Given the description of an element on the screen output the (x, y) to click on. 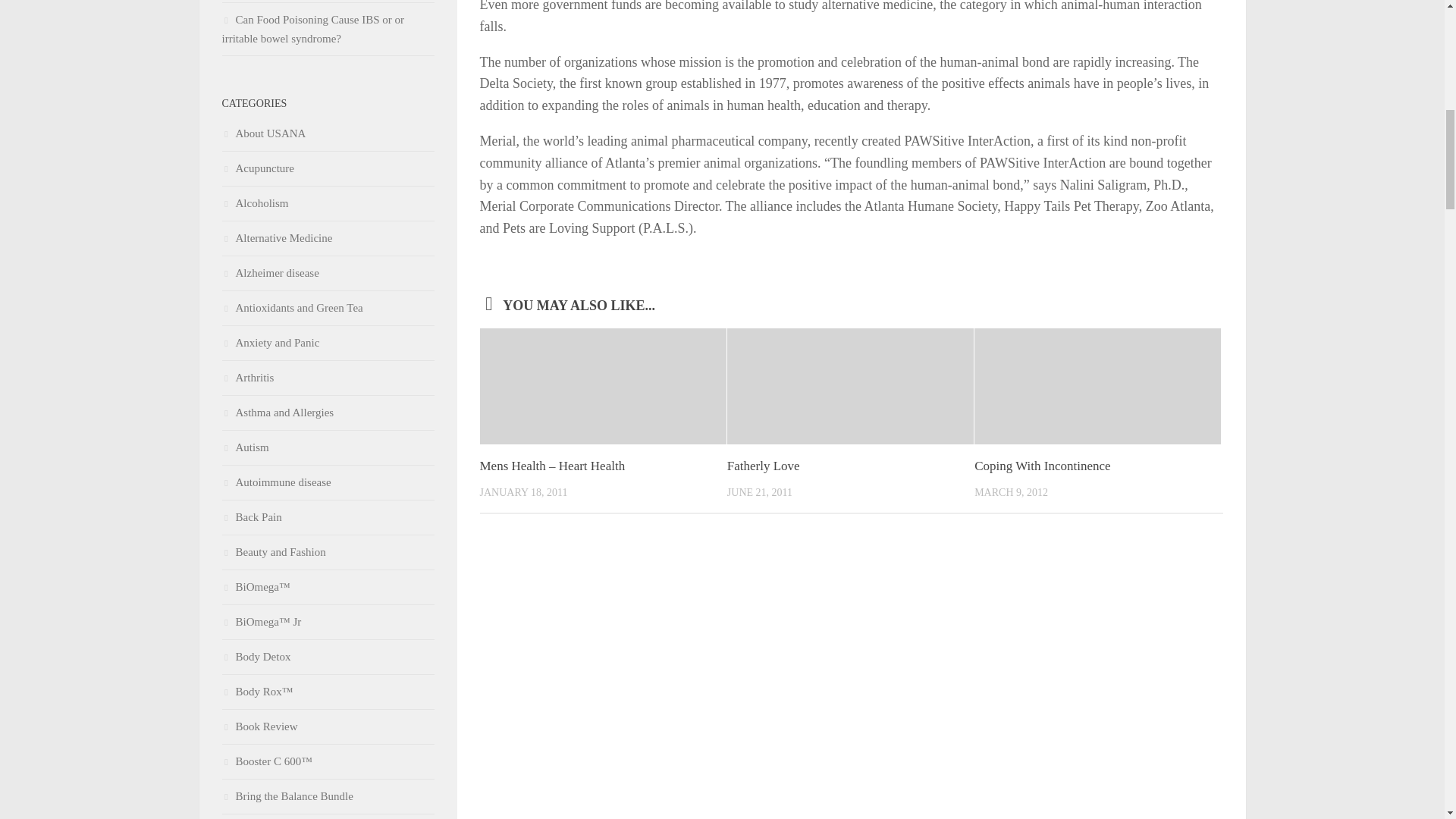
Coping With Incontinence (1041, 465)
Permalink to Fatherly Love (762, 465)
Fatherly Love (762, 465)
About USANA company (263, 133)
Permalink to Coping With Incontinence (1041, 465)
